Given the description of an element on the screen output the (x, y) to click on. 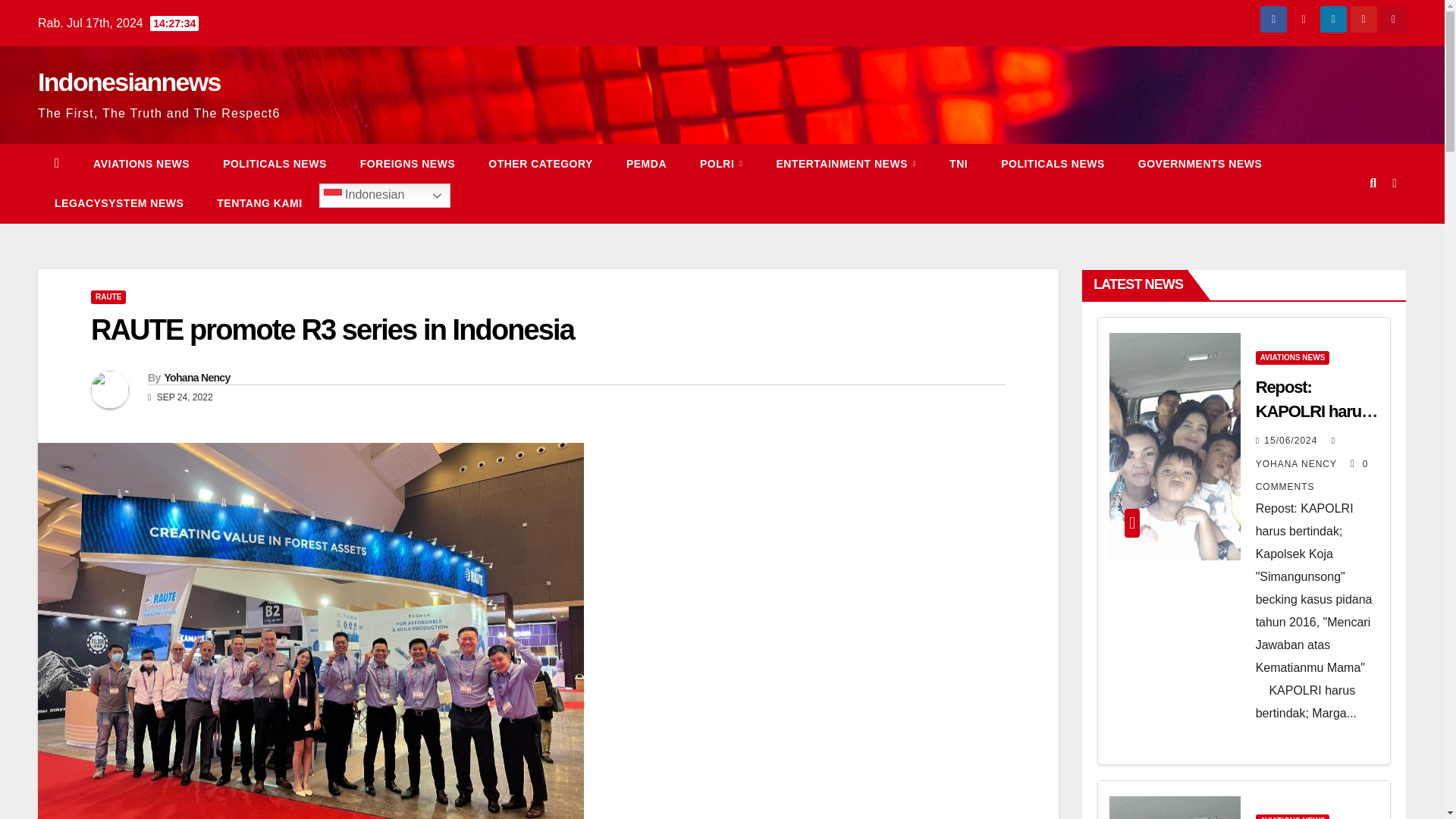
Entertainment News (845, 163)
Pemda (646, 163)
GOVERNMENTS NEWS (1200, 163)
AVIATIONS NEWS (141, 163)
TENTANG KAMI (259, 202)
Other Category (540, 163)
FOREIGNS NEWS (407, 163)
TENTANG KAMI (259, 202)
PEMDA (646, 163)
POLRI (720, 163)
POLITICALS NEWS (1052, 163)
OTHER CATEGORY (540, 163)
TNI (958, 163)
Indonesiannews (129, 81)
TNI (958, 163)
